Given the description of an element on the screen output the (x, y) to click on. 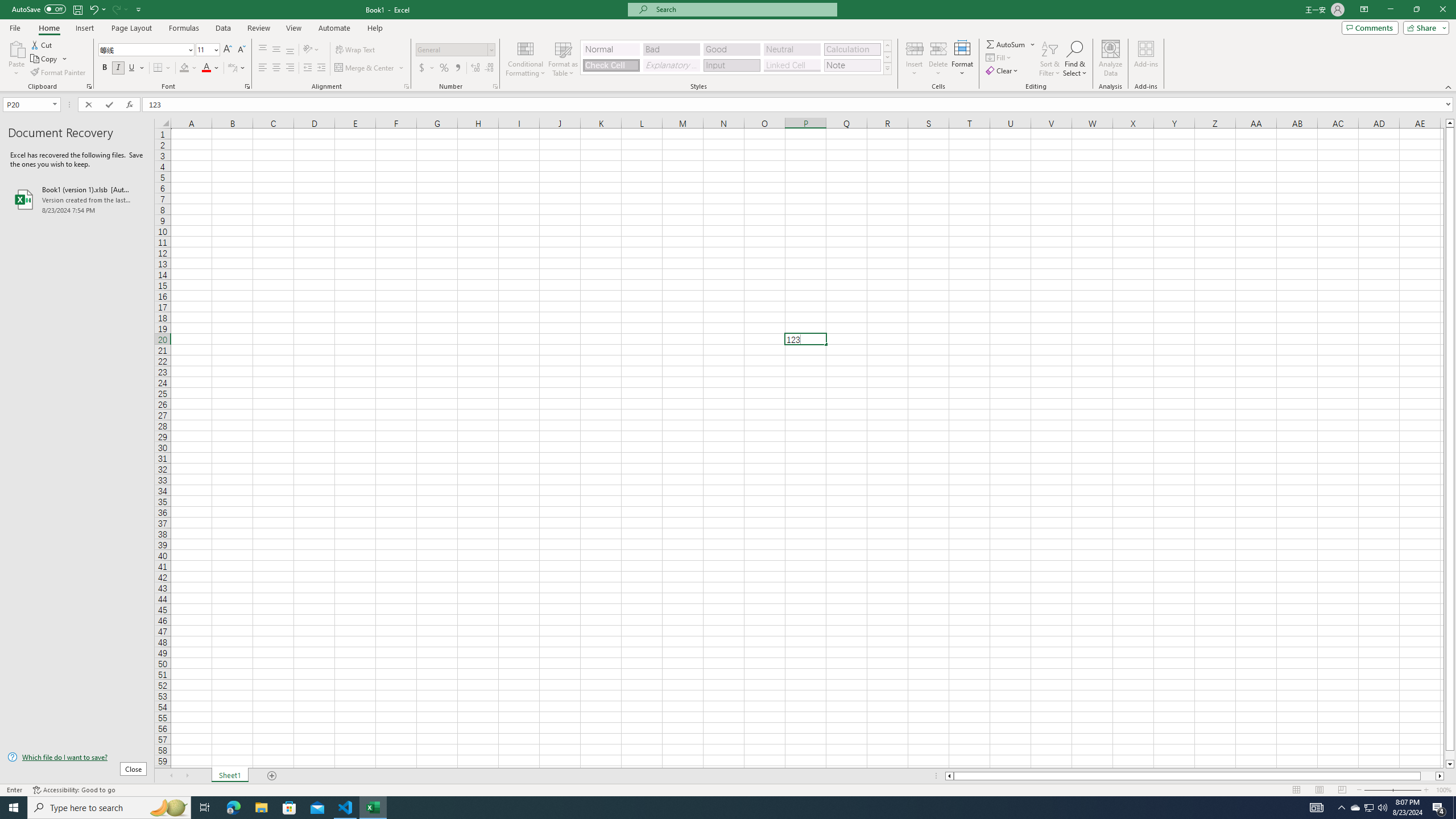
Explanatory Text (671, 65)
Orientation (311, 49)
Fill Color RGB(255, 255, 0) (183, 67)
AutomationID: CellStylesGallery (736, 57)
Format as Table (563, 58)
Decrease Font Size (240, 49)
AutoSum (1011, 44)
Number Format (451, 49)
